Given the description of an element on the screen output the (x, y) to click on. 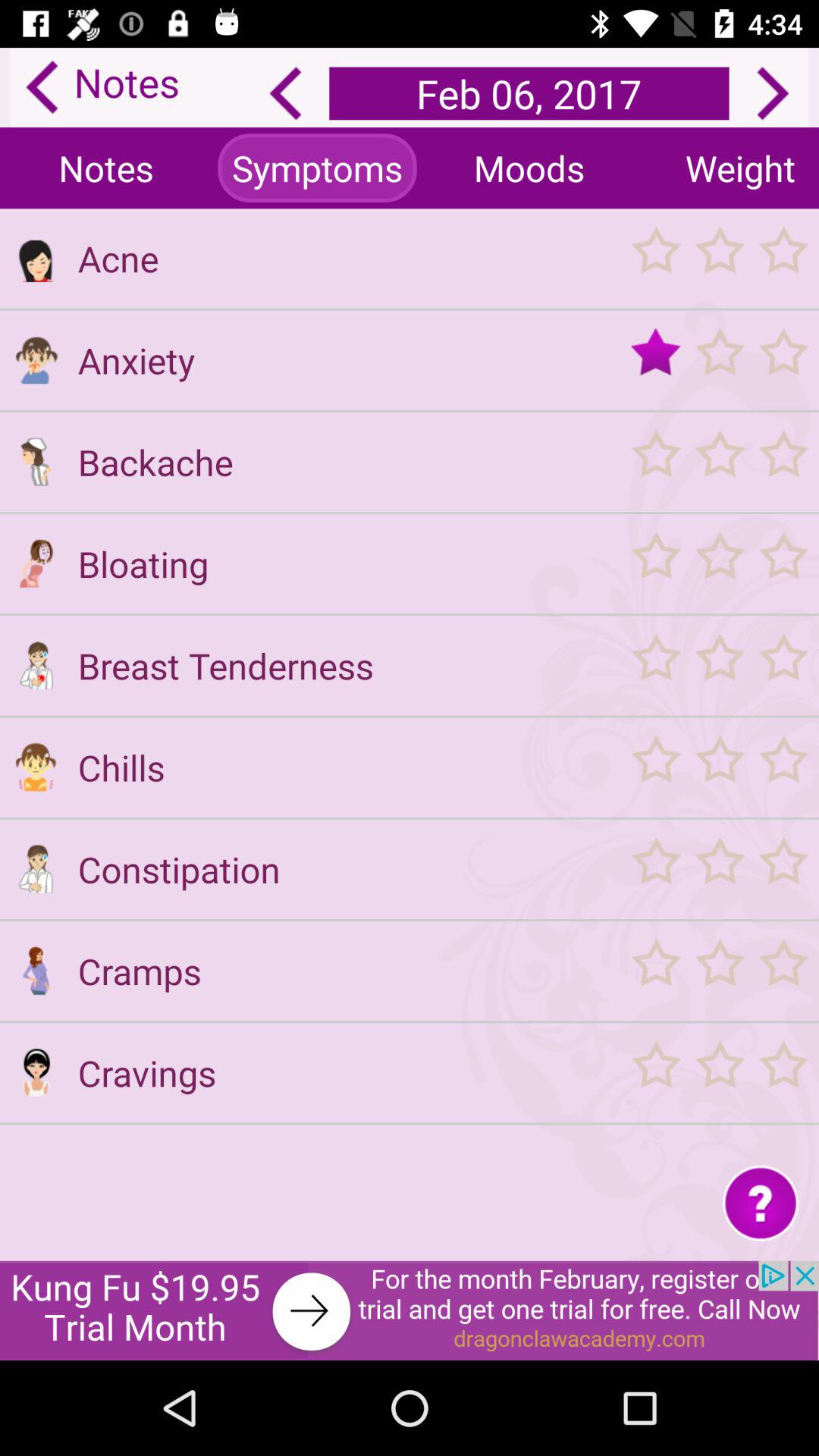
rate (719, 665)
